Given the description of an element on the screen output the (x, y) to click on. 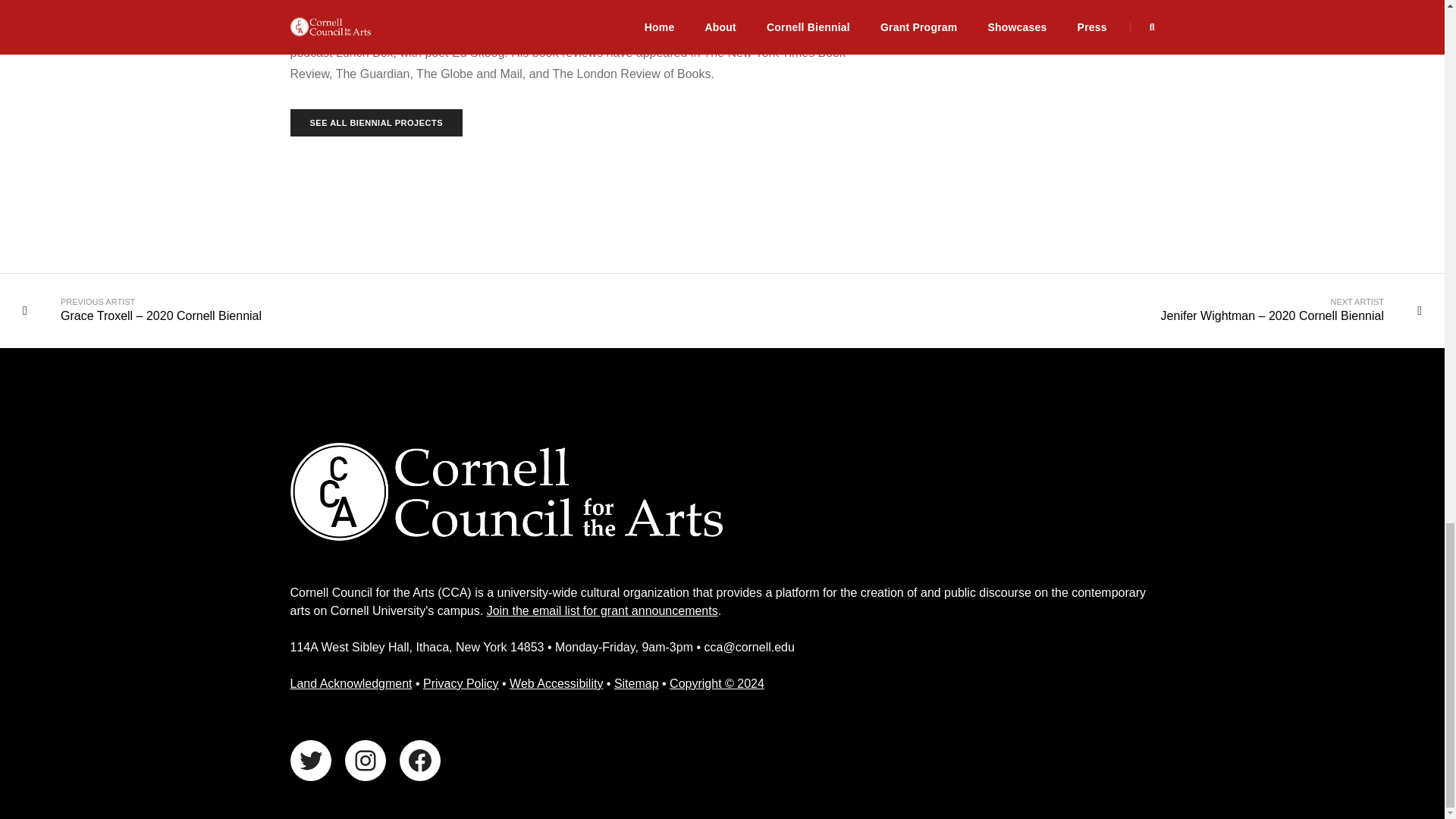
SEE ALL BIENNIAL PROJECTS (376, 122)
Join the email list for grant announcements (601, 610)
Facebook (418, 760)
Web Accessibility (555, 683)
Twitter (309, 760)
Land Acknowledgment (350, 683)
Instagram (364, 760)
Privacy Policy (459, 683)
Sitemap (636, 683)
